Given the description of an element on the screen output the (x, y) to click on. 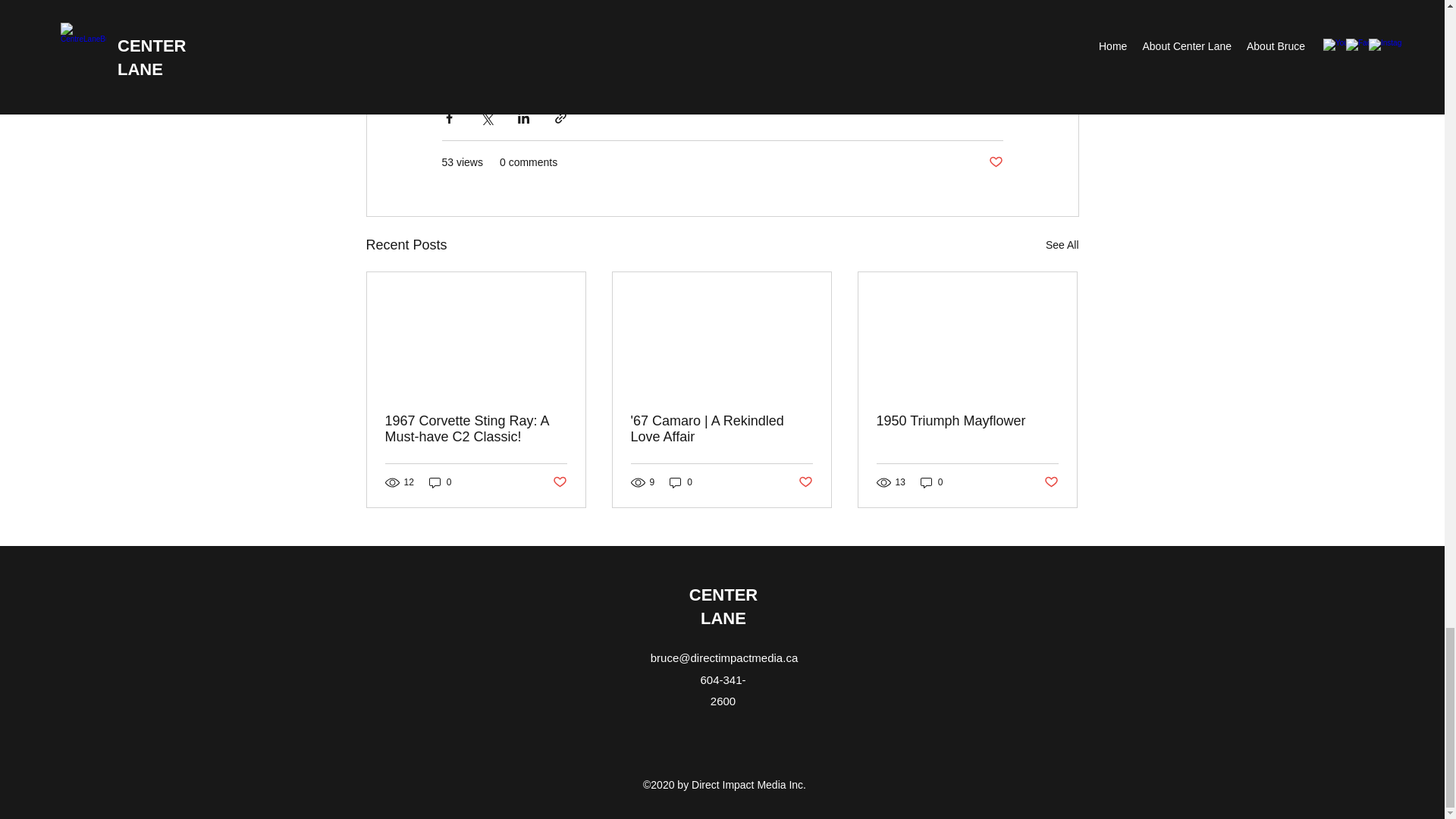
Post not marked as liked (995, 162)
Post not marked as liked (558, 482)
1967 Corvette Sting Ray: A Must-have C2 Classic! (476, 429)
Post not marked as liked (804, 482)
See All (1061, 245)
0 (931, 482)
1950 Triumph Mayflower (967, 421)
0 (440, 482)
0 (681, 482)
Post not marked as liked (1050, 482)
